Given the description of an element on the screen output the (x, y) to click on. 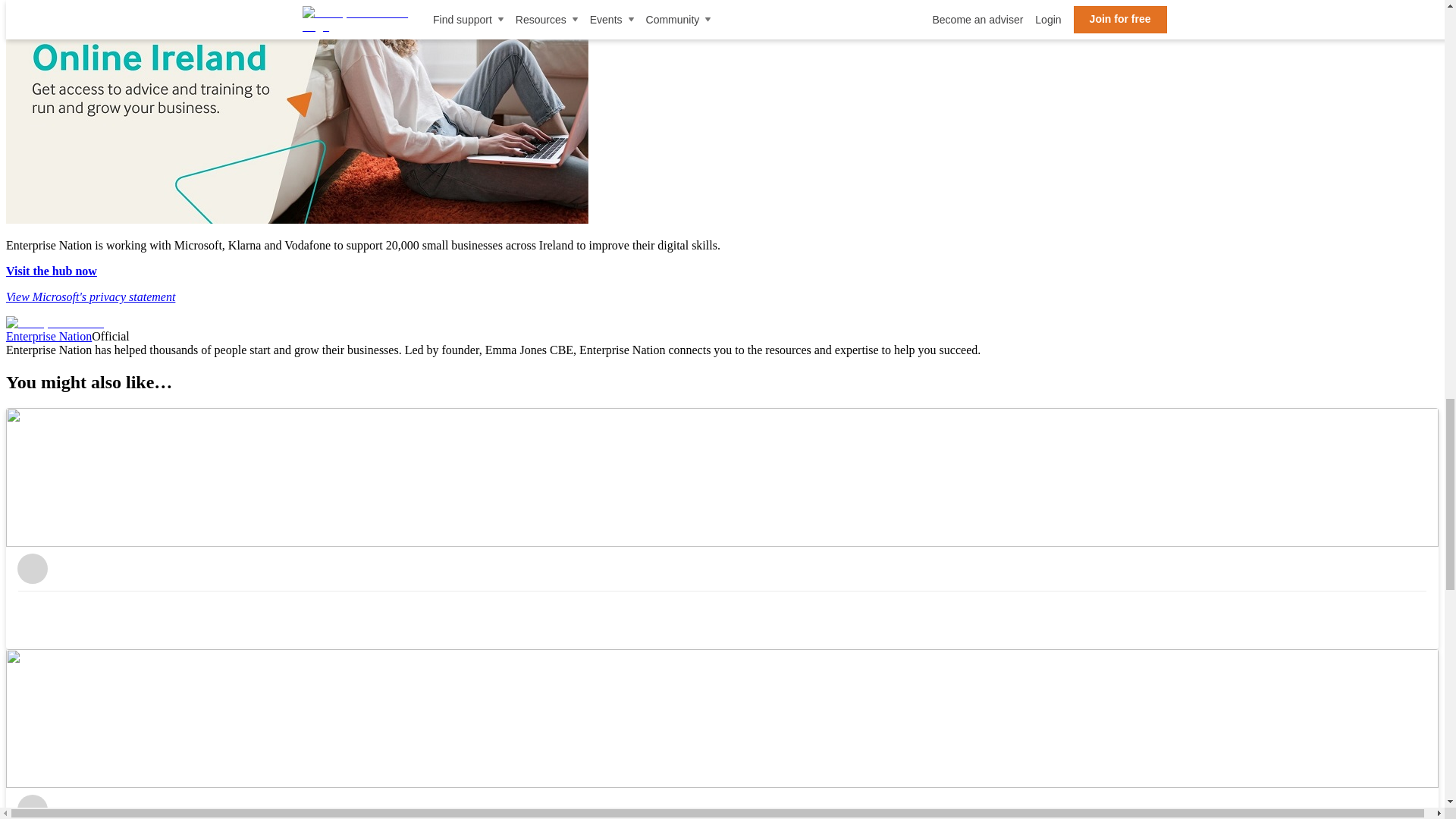
Visit the hub now (51, 270)
Enterprise Nation (54, 323)
Enterprise Nation (48, 336)
View Microsoft's privacy statement (89, 296)
